Given the description of an element on the screen output the (x, y) to click on. 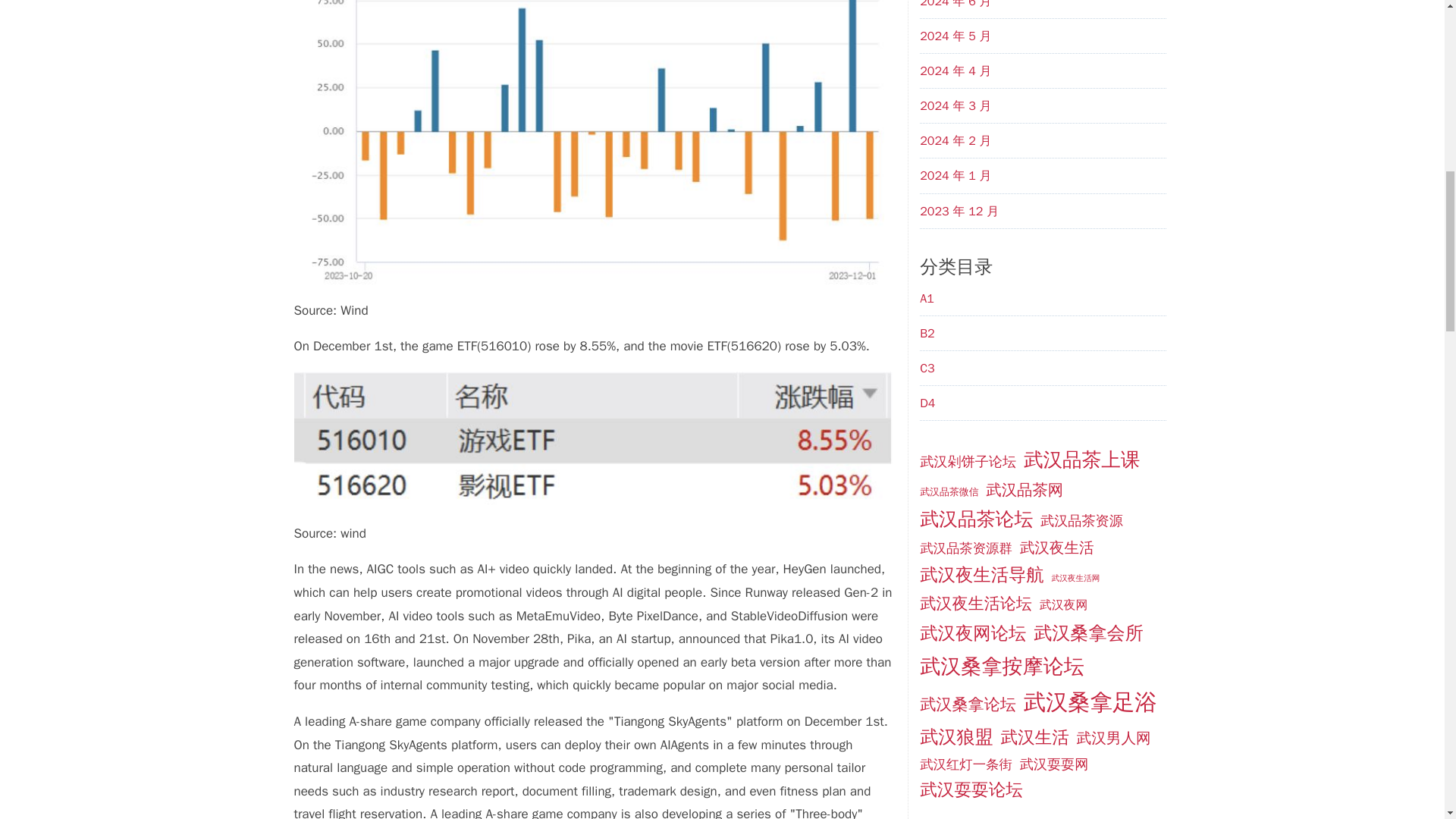
A1 (927, 298)
B2 (927, 333)
D4 (927, 403)
C3 (927, 368)
